Given the description of an element on the screen output the (x, y) to click on. 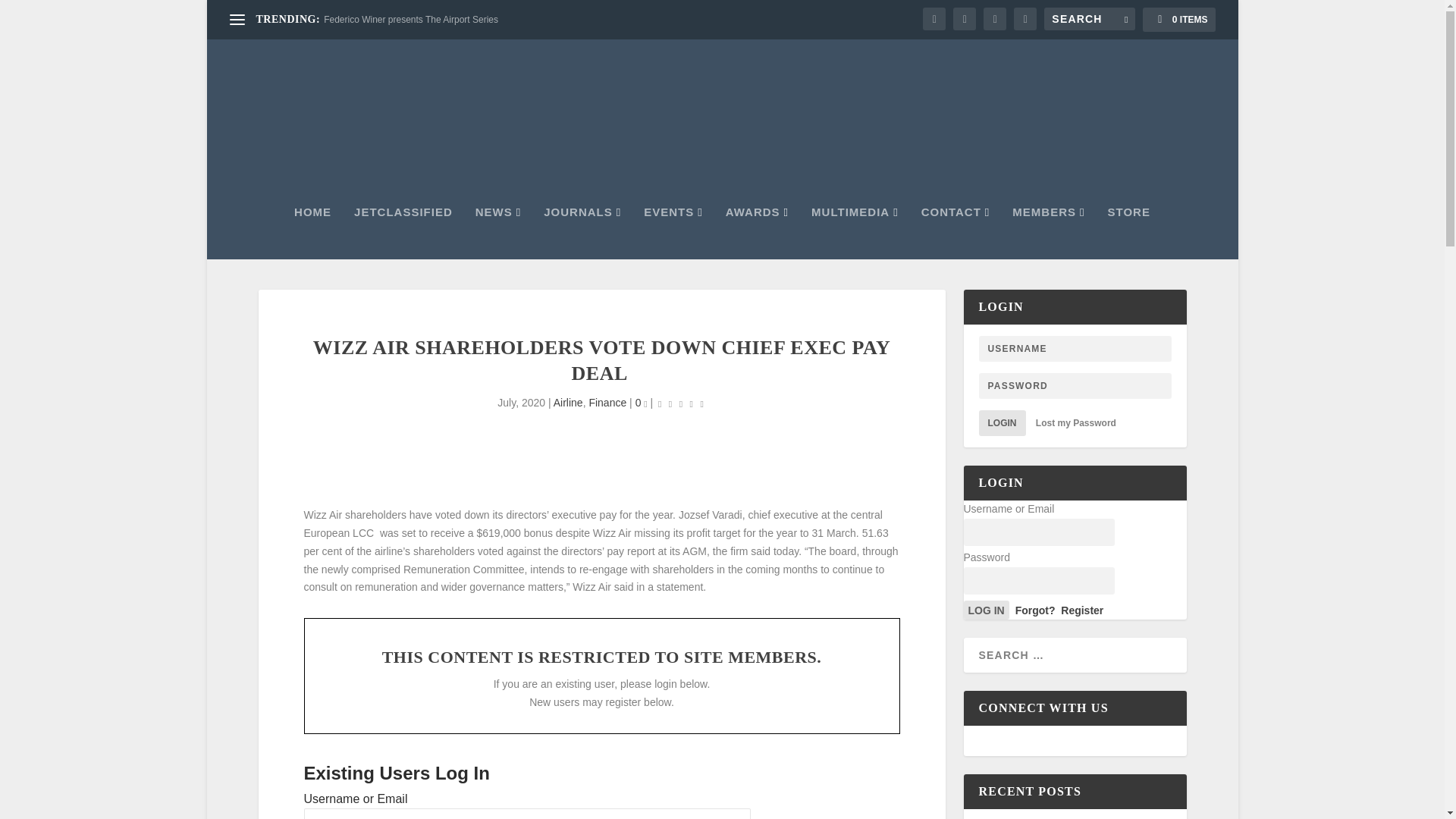
log in (985, 609)
JOURNALS (582, 232)
comment count (644, 404)
NEWS (498, 232)
Rating: 0.00 (681, 403)
Federico Winer presents The Airport Series (410, 19)
JETCLASSIFIED (402, 232)
HOME (312, 232)
